Given the description of an element on the screen output the (x, y) to click on. 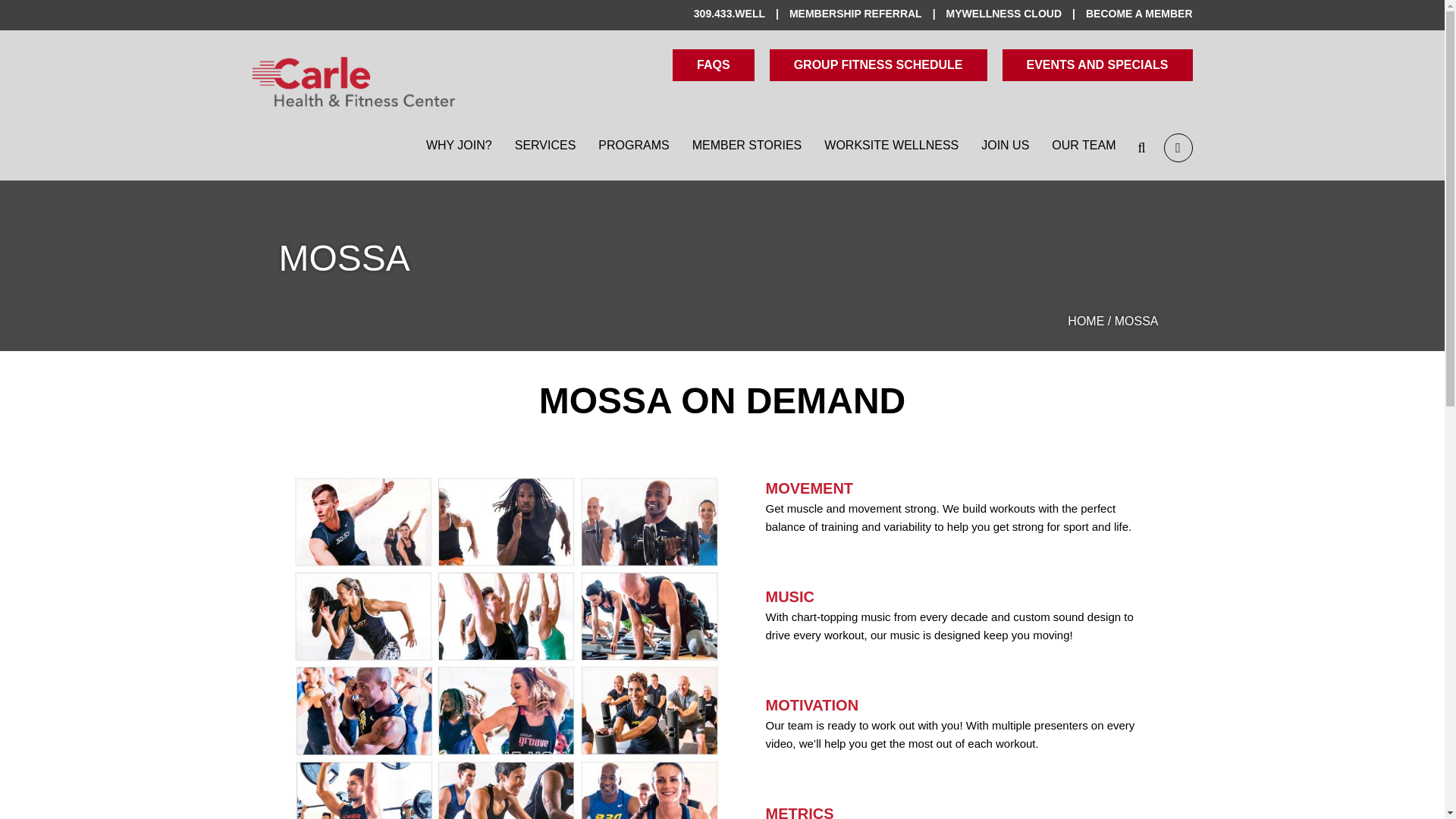
WORKSITE WELLNESS (890, 145)
309.433.WELL (741, 13)
WHY JOIN? (458, 145)
FAQS (713, 65)
BECOME A MEMBER (1139, 13)
SERVICES (545, 145)
MEMBER STORIES (747, 145)
PROGRAMS (632, 145)
MYWELLNESS CLOUD (1016, 13)
EVENTS AND SPECIALS (1097, 65)
MEMBERSHIP REFERRAL (867, 13)
JOIN US (1005, 145)
OUR TEAM (1083, 145)
GROUP FITNESS SCHEDULE (878, 65)
FACEBOOK (1177, 147)
